Given the description of an element on the screen output the (x, y) to click on. 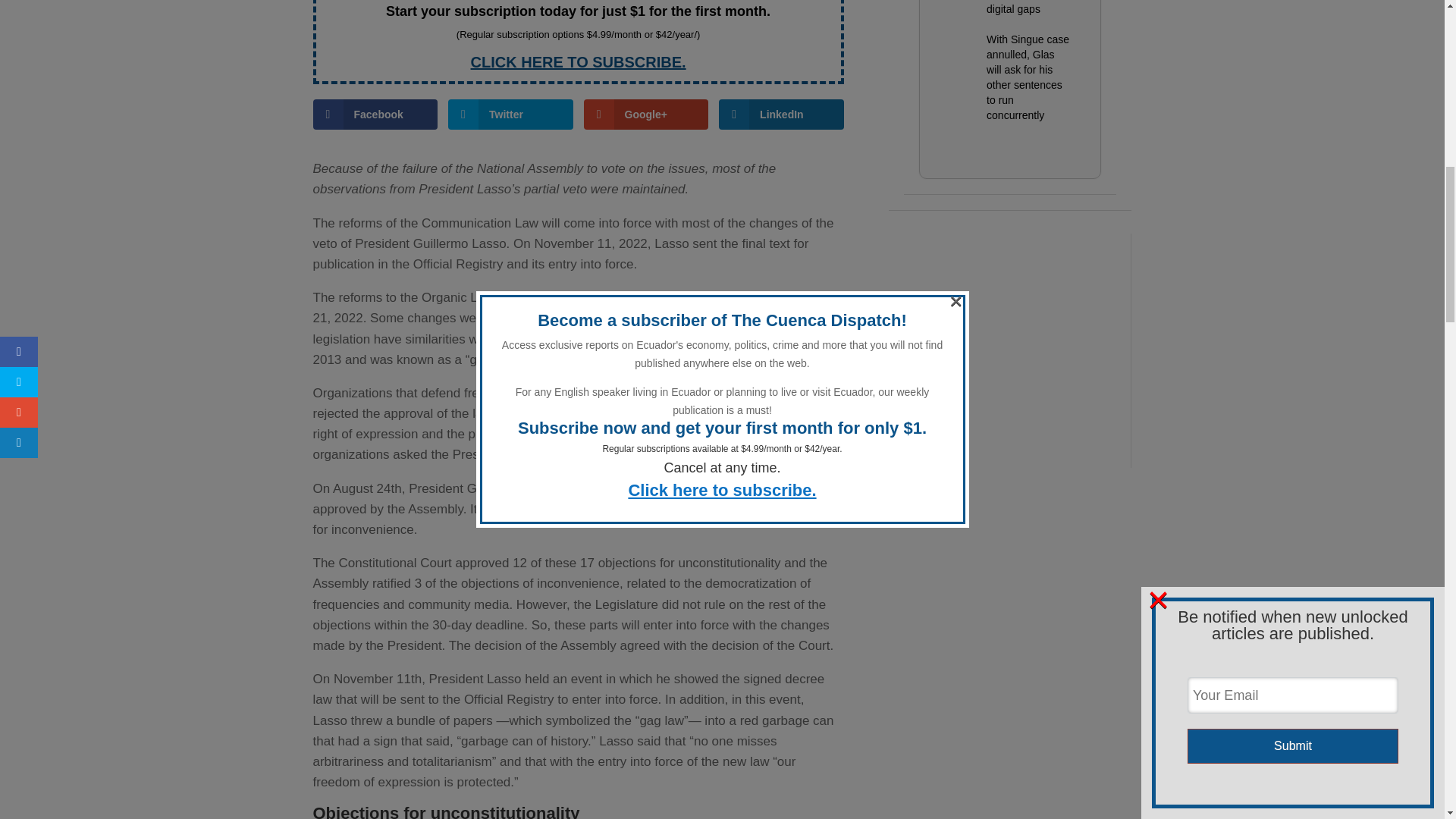
CLICK HERE TO SUBSCRIBE. (577, 62)
Advertisement (1009, 328)
LinkedIn (781, 114)
Facebook (375, 114)
Twitter (510, 114)
